Given the description of an element on the screen output the (x, y) to click on. 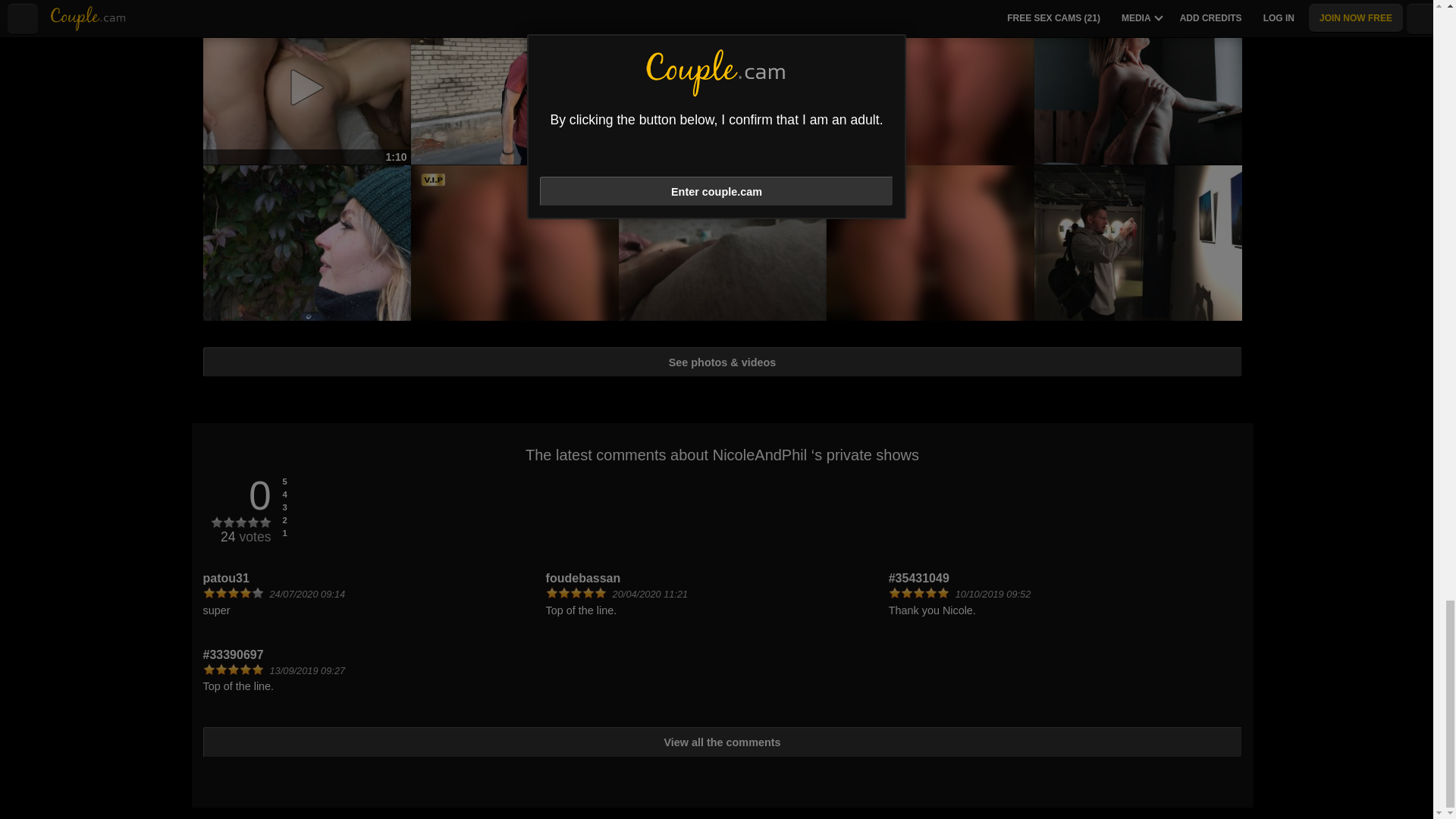
1:10 (306, 87)
1:09 (722, 4)
